Given the description of an element on the screen output the (x, y) to click on. 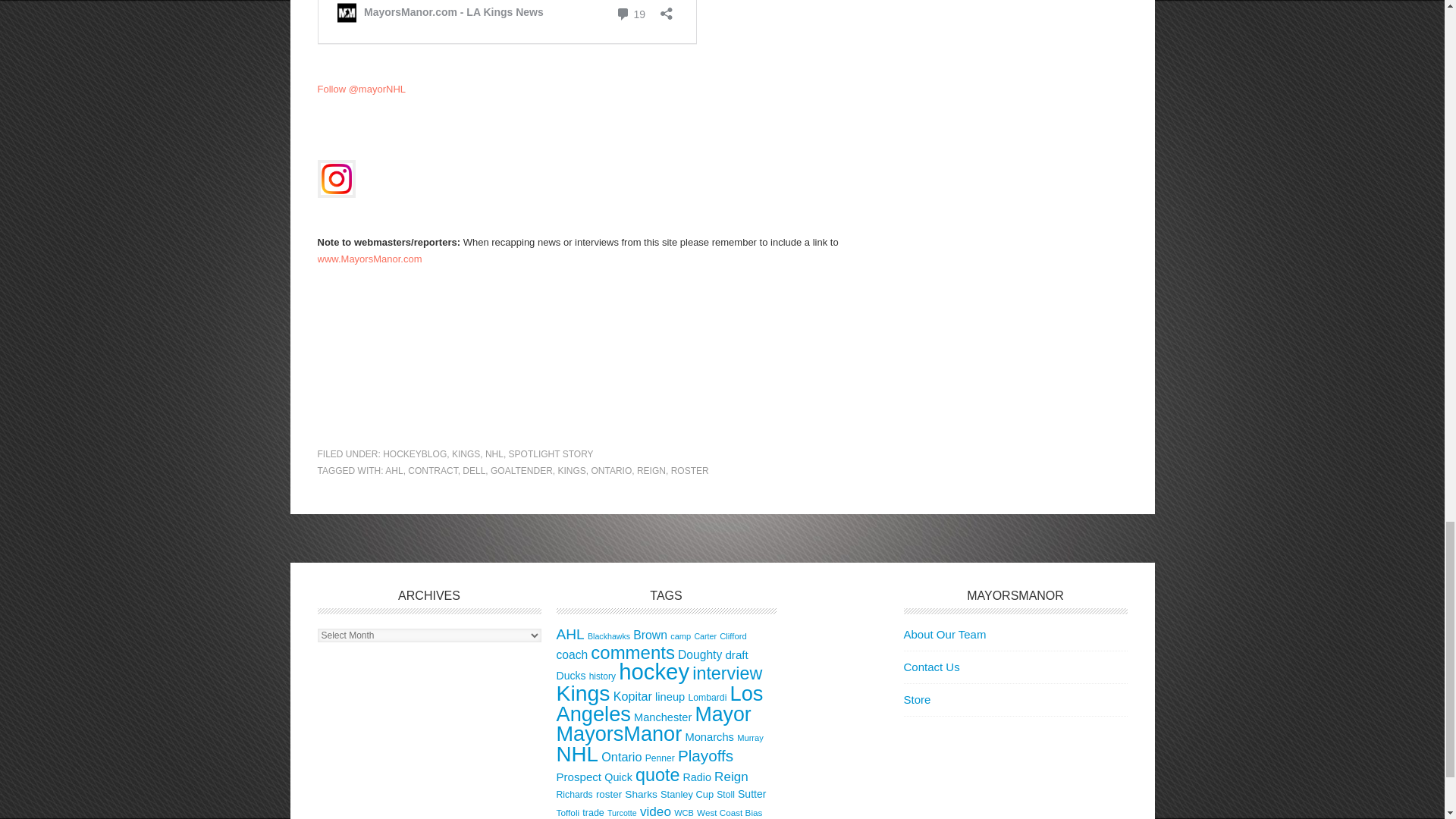
HOCKEYBLOG (414, 453)
3rd party ad content (582, 380)
AHL (394, 470)
NHL (493, 453)
KINGS (465, 453)
SPOTLIGHT STORY (551, 453)
ROSTER (690, 470)
www.MayorsManor.com (369, 258)
DELL (473, 470)
KINGS (571, 470)
CONTRACT (432, 470)
REIGN (651, 470)
GOALTENDER (521, 470)
ONTARIO (611, 470)
